Given the description of an element on the screen output the (x, y) to click on. 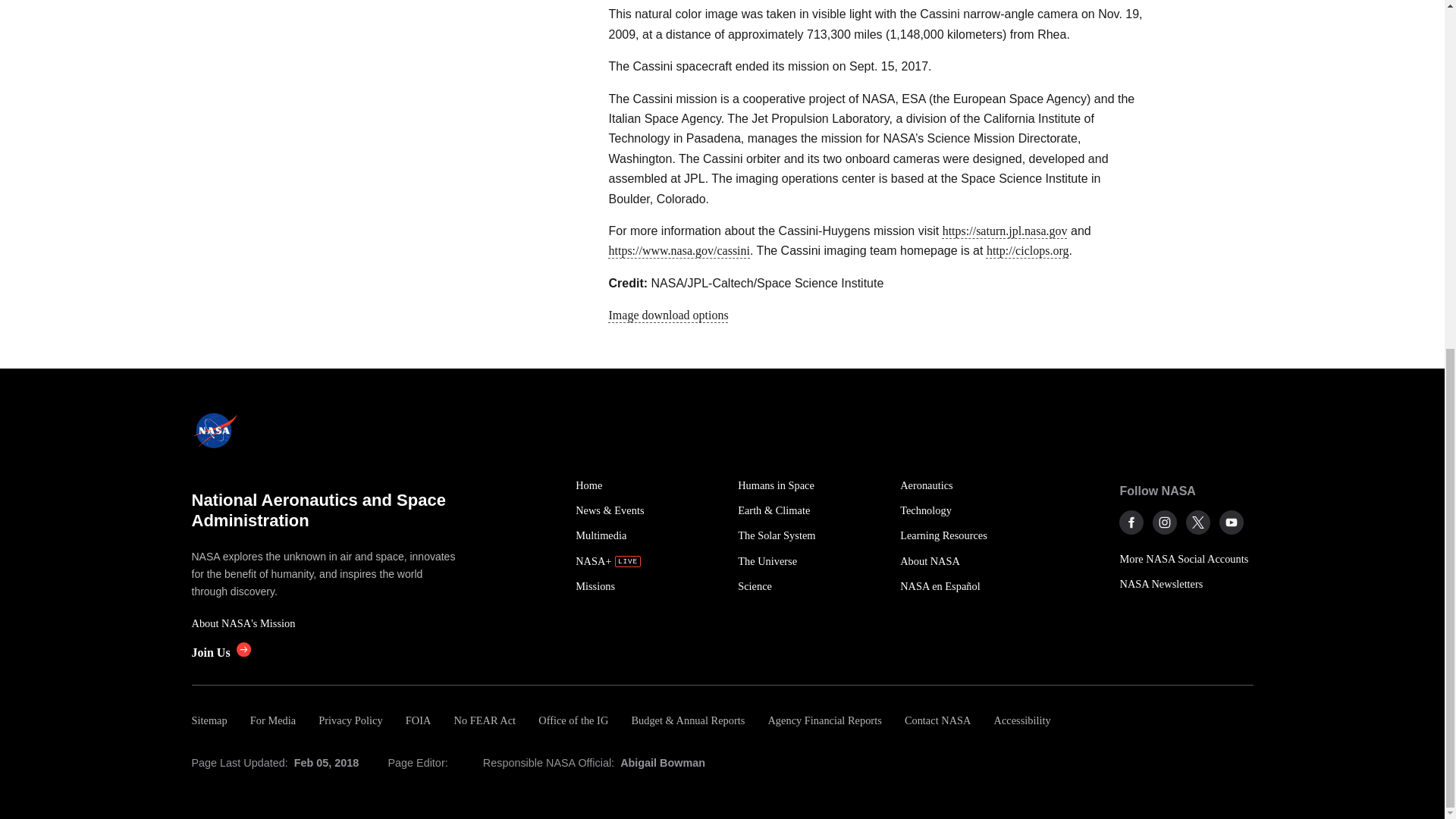
NASA on X (1197, 522)
Humans in Space (810, 485)
NASA on Facebook (1130, 522)
Image download options (668, 314)
Aeronautics (972, 485)
Multimedia (647, 535)
NASA on YouTube (1231, 522)
Join Us (220, 652)
Home (647, 485)
The Universe (810, 561)
Missions (647, 586)
Science (810, 586)
NASA on Instagram (1164, 522)
The Solar System (810, 535)
About NASA's Mission (324, 623)
